Given the description of an element on the screen output the (x, y) to click on. 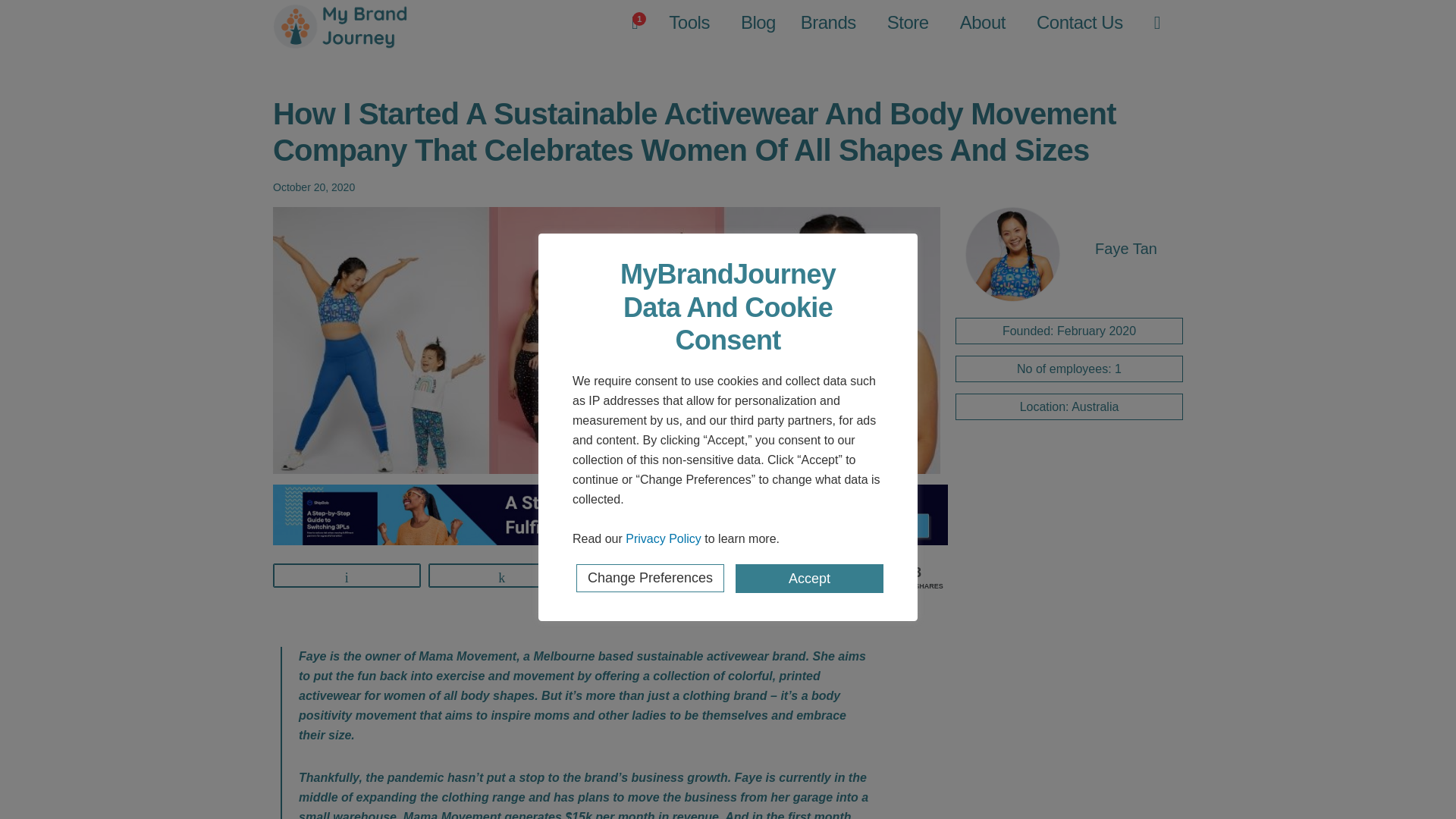
Contact Us (1079, 22)
Tools (689, 22)
Blog (758, 22)
Brands (828, 22)
Store (907, 22)
3 (656, 575)
About (982, 22)
